Given the description of an element on the screen output the (x, y) to click on. 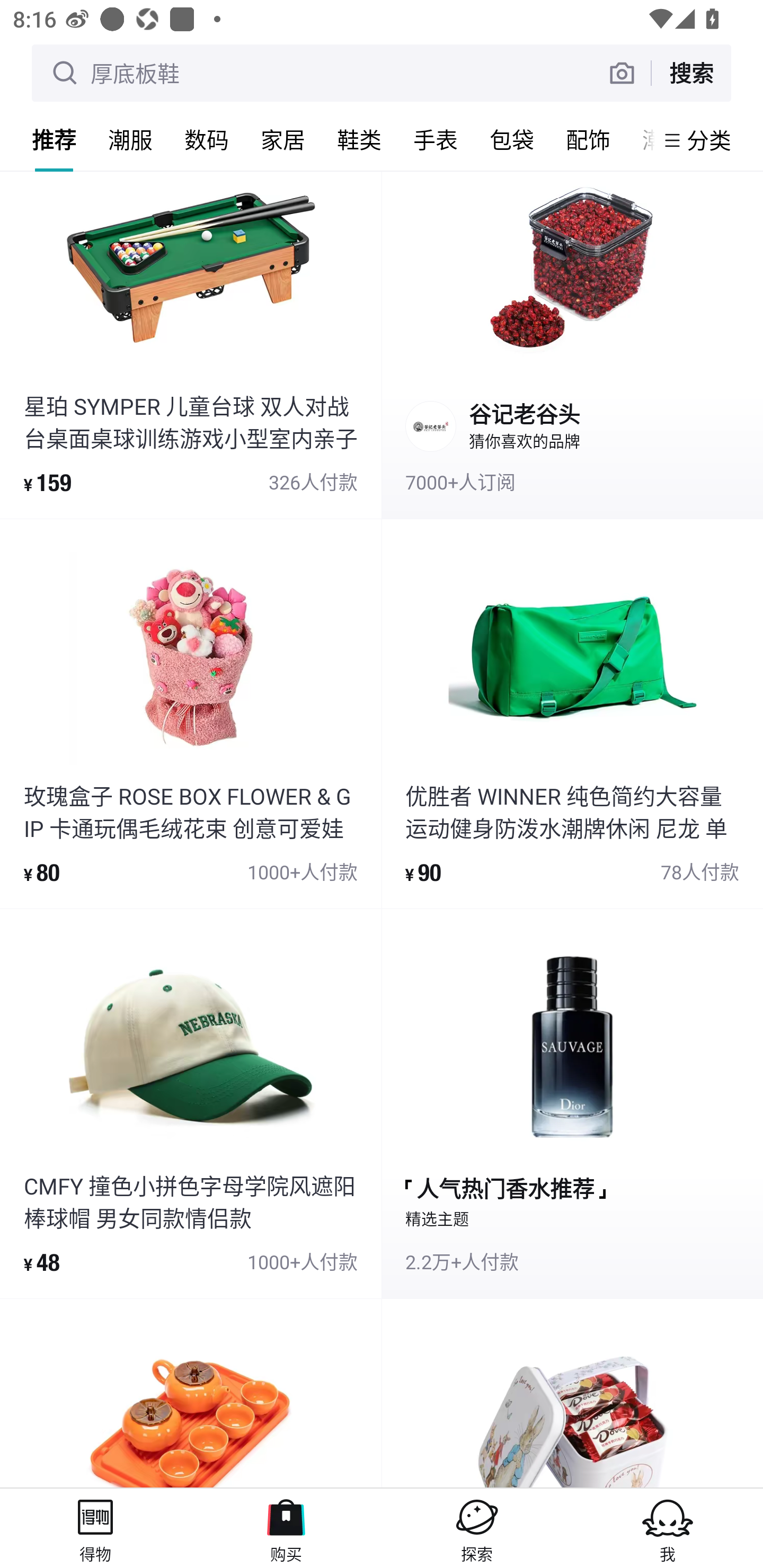
搜索 (690, 72)
推荐 (54, 139)
潮服 (130, 139)
数码 (206, 139)
家居 (282, 139)
鞋类 (359, 139)
手表 (435, 139)
包袋 (511, 139)
配饰 (588, 139)
分类 (708, 139)
谷记老谷头 猜你喜欢的品牌 7000+人订阅 (572, 344)
人气热门香水推荐 精选主题 2.2万+人付款 (572, 1103)
product_item (190, 1393)
product_item (572, 1393)
得物 (95, 1528)
购买 (285, 1528)
探索 (476, 1528)
我 (667, 1528)
